Given the description of an element on the screen output the (x, y) to click on. 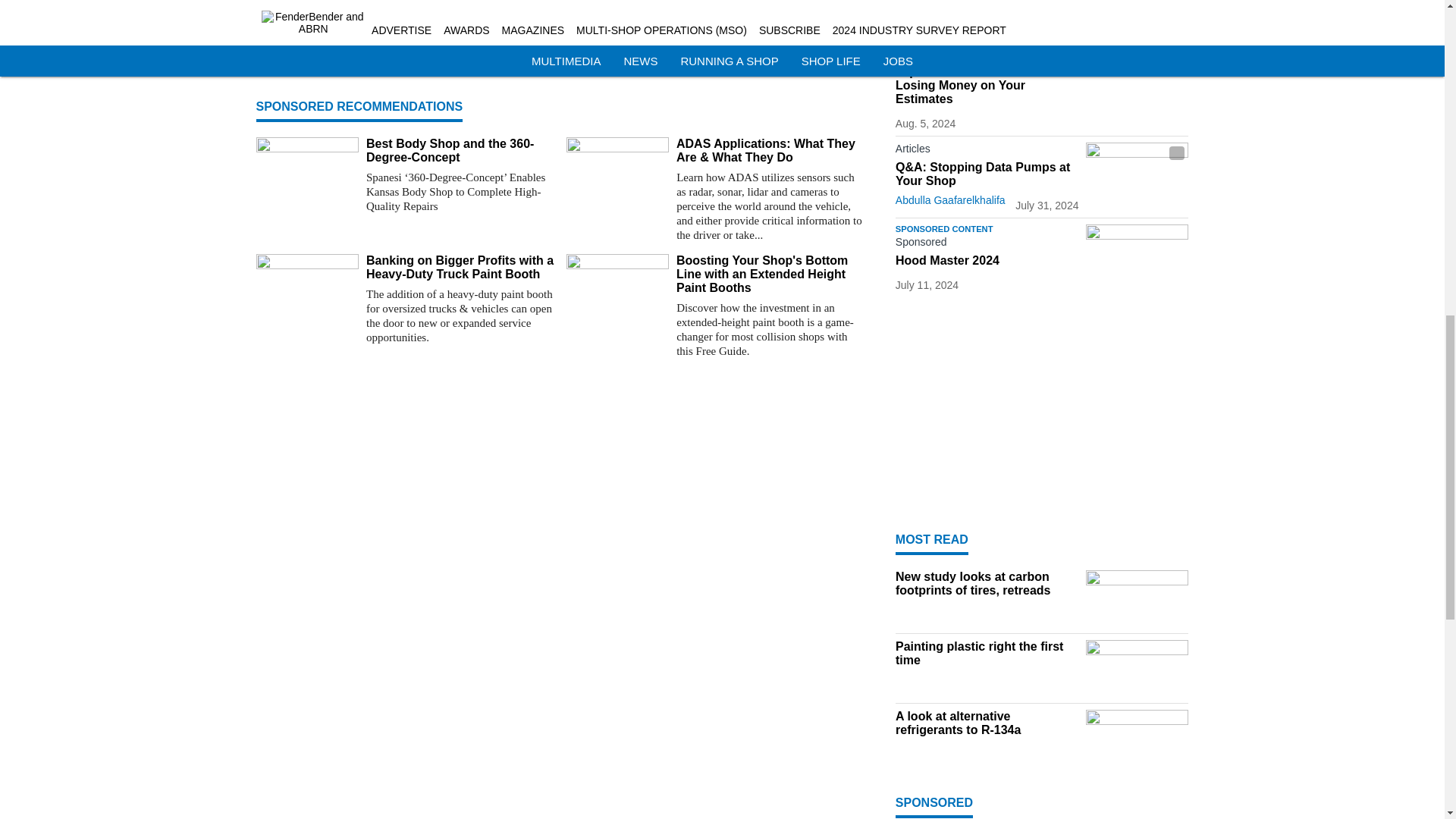
The Amazonification of Collision Repair (405, 53)
Bryant: Maintain Your Composure in a Challenging Climate (715, 60)
Sponsored (986, 55)
Best Body Shop and the 360-Degree-Concept (459, 150)
Articles (986, 151)
